Given the description of an element on the screen output the (x, y) to click on. 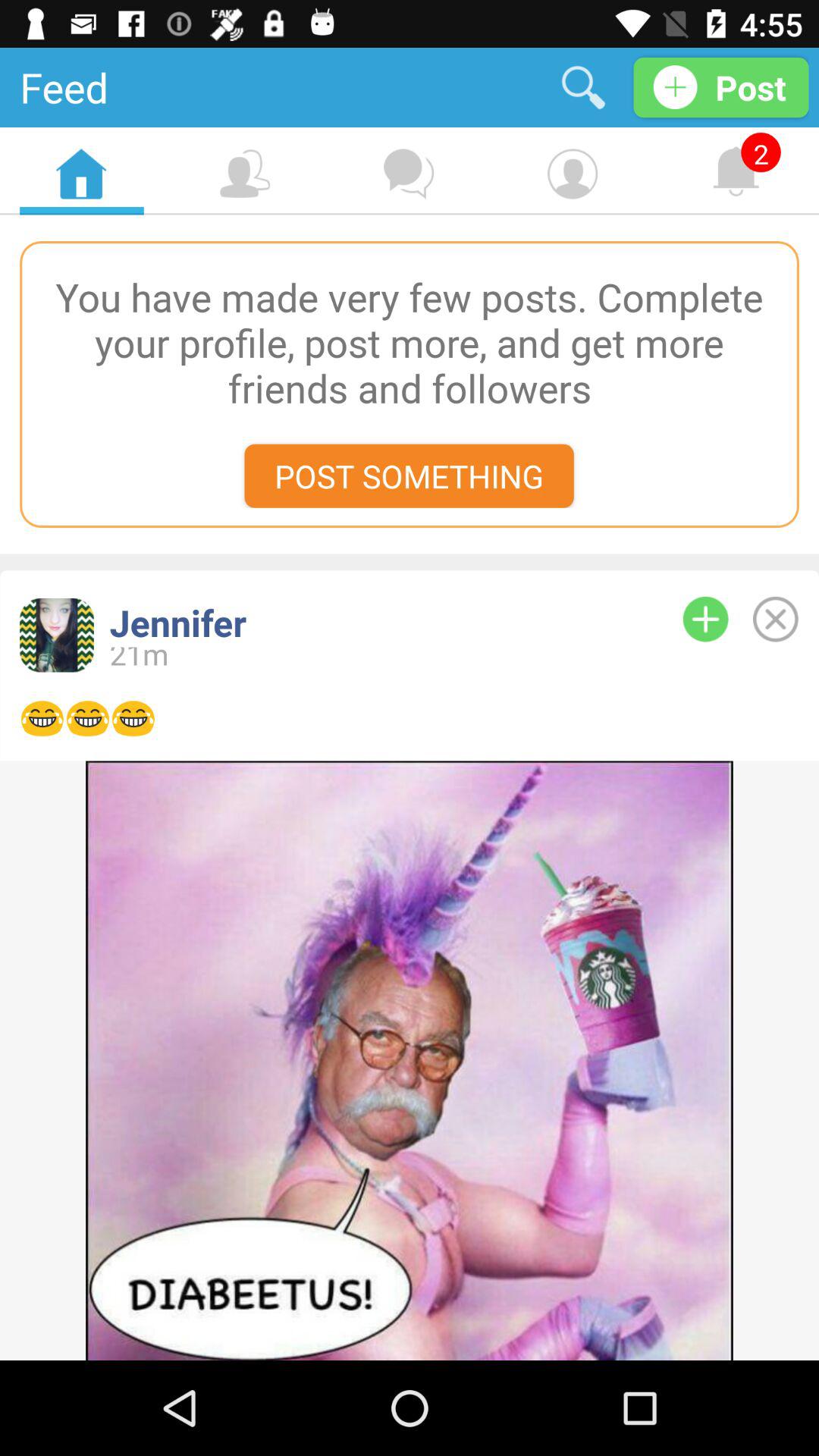
delete this post (775, 619)
